Given the description of an element on the screen output the (x, y) to click on. 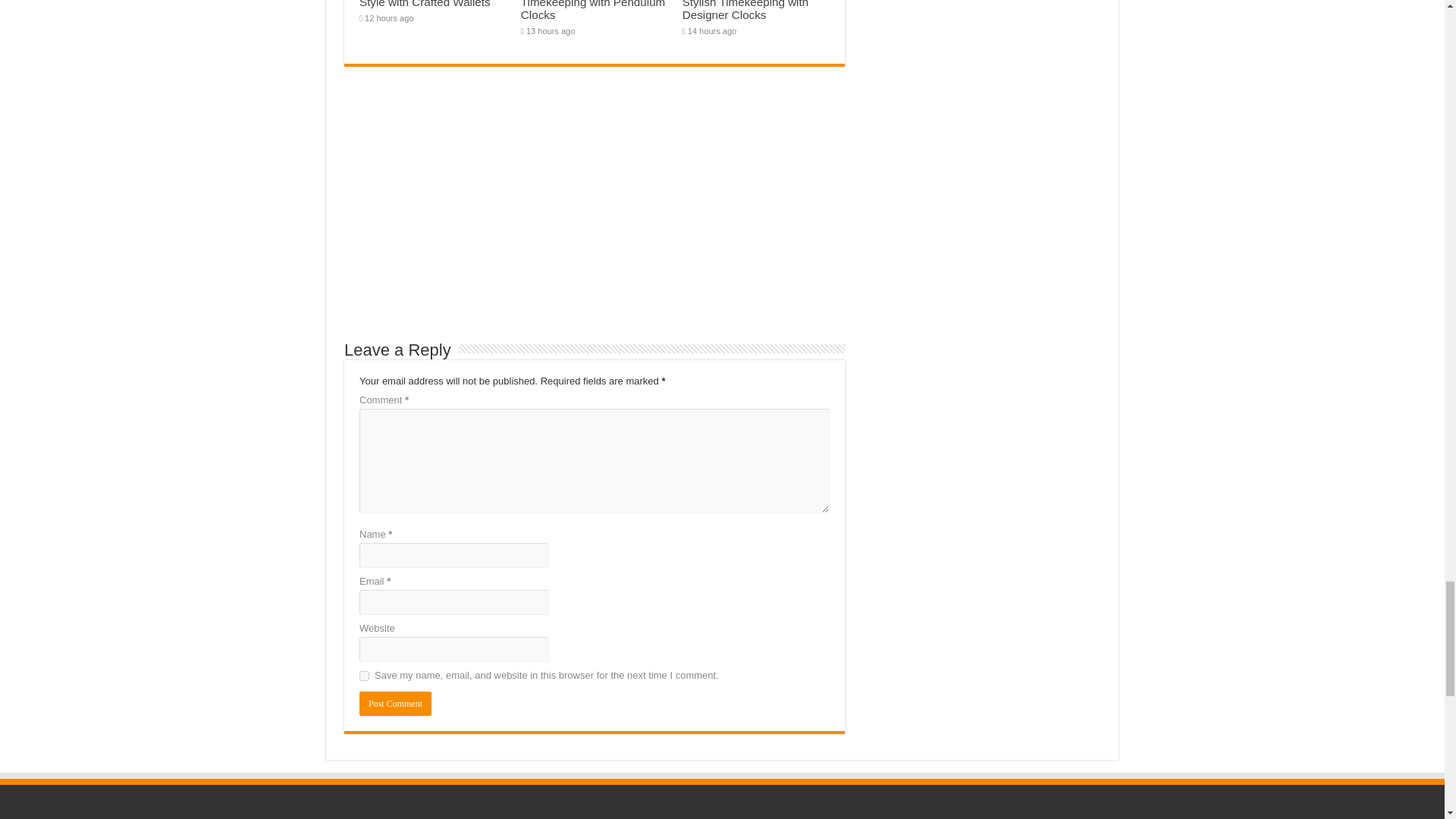
Post Comment (394, 703)
yes (364, 675)
Artistic Flair: Elevating Your Style with Crafted Wallets (429, 4)
